Given the description of an element on the screen output the (x, y) to click on. 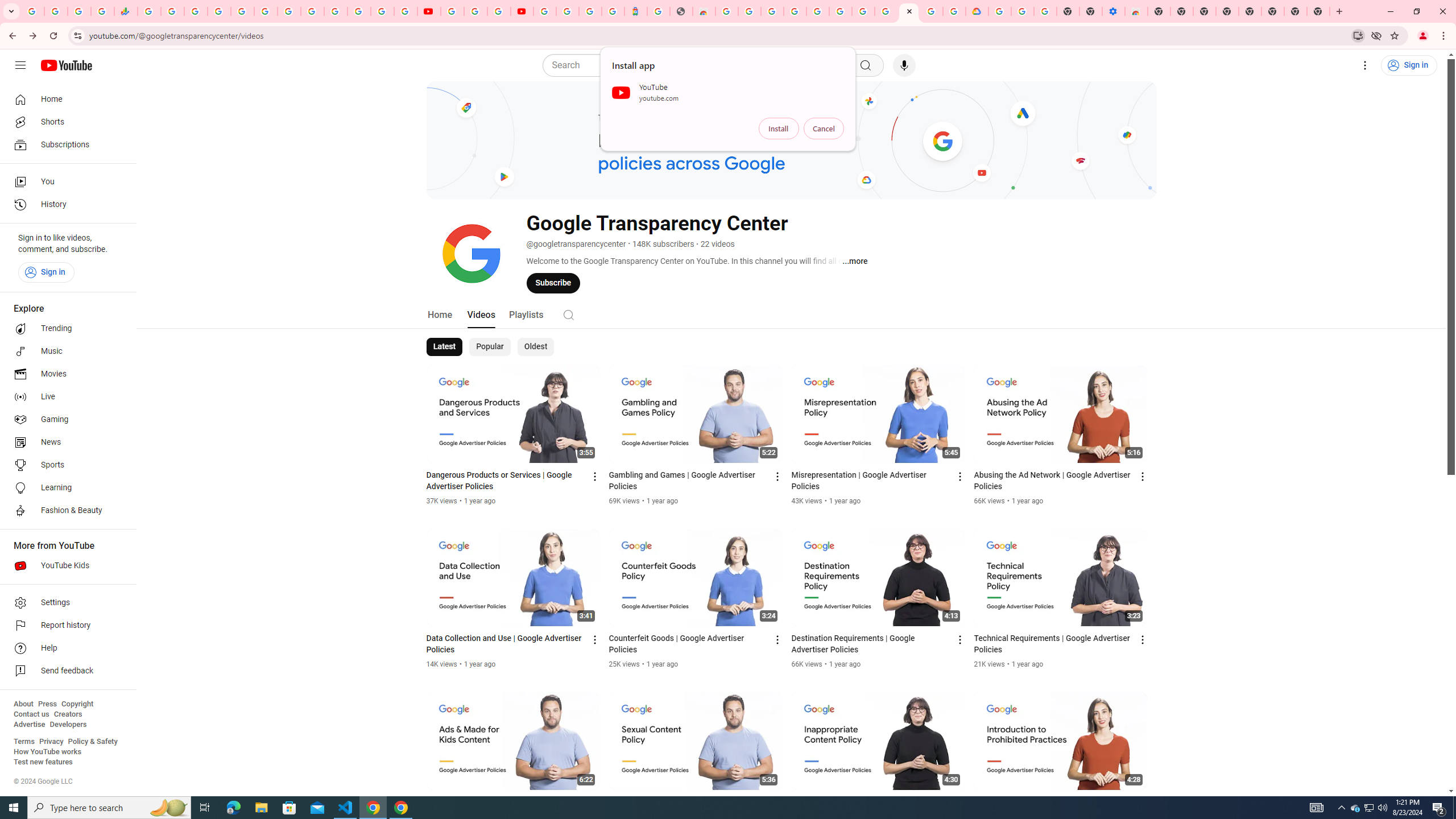
Send feedback (64, 671)
Policy & Safety (91, 741)
Sports (64, 464)
Fashion & Beauty (64, 510)
Ad Settings (794, 11)
Copyright (77, 703)
Latest (444, 346)
Android TV Policies and Guidelines - Transparency Center (885, 11)
Google Account Help (475, 11)
Google Transparency Center - YouTube (909, 11)
Live (64, 396)
